Given the description of an element on the screen output the (x, y) to click on. 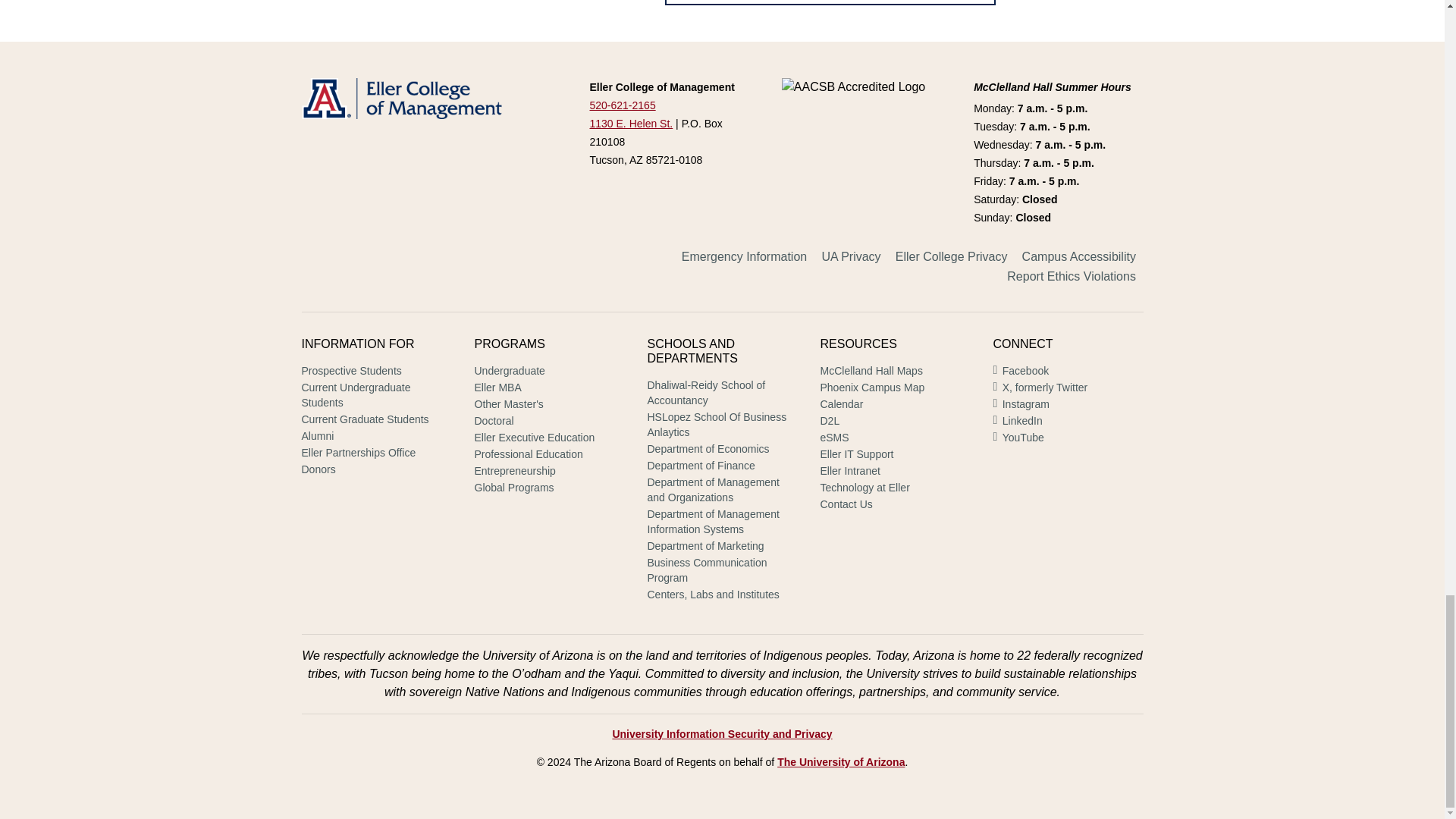
Eller LinkedIn page (1017, 421)
Eller Instagram page (1020, 404)
Eller Facebook page (1020, 371)
Eller YouTube page (1017, 437)
